Given the description of an element on the screen output the (x, y) to click on. 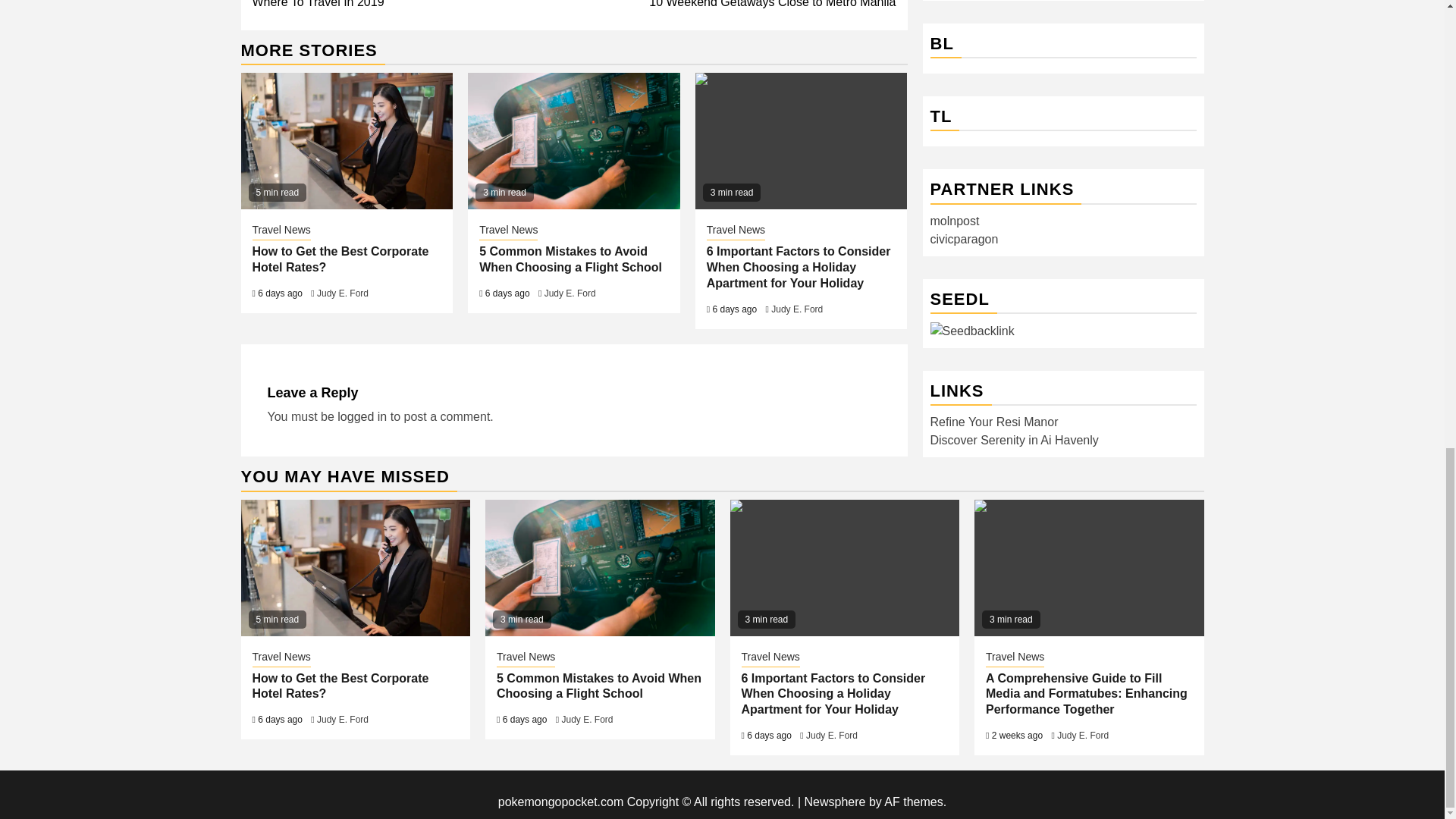
Judy E. Ford (569, 293)
Judy E. Ford (342, 293)
How to Get the Best Corporate Hotel Rates? (346, 140)
How to Get the Best Corporate Hotel Rates? (355, 567)
Travel News (508, 230)
5 Common Mistakes to Avoid When Choosing a Flight School (570, 258)
Seedbacklink (971, 196)
5 Common Mistakes to Avoid When Choosing a Flight School (412, 5)
How to Get the Best Corporate Hotel Rates? (599, 567)
5 Common Mistakes to Avoid When Choosing a Flight School (339, 258)
Travel News (734, 5)
